Given the description of an element on the screen output the (x, y) to click on. 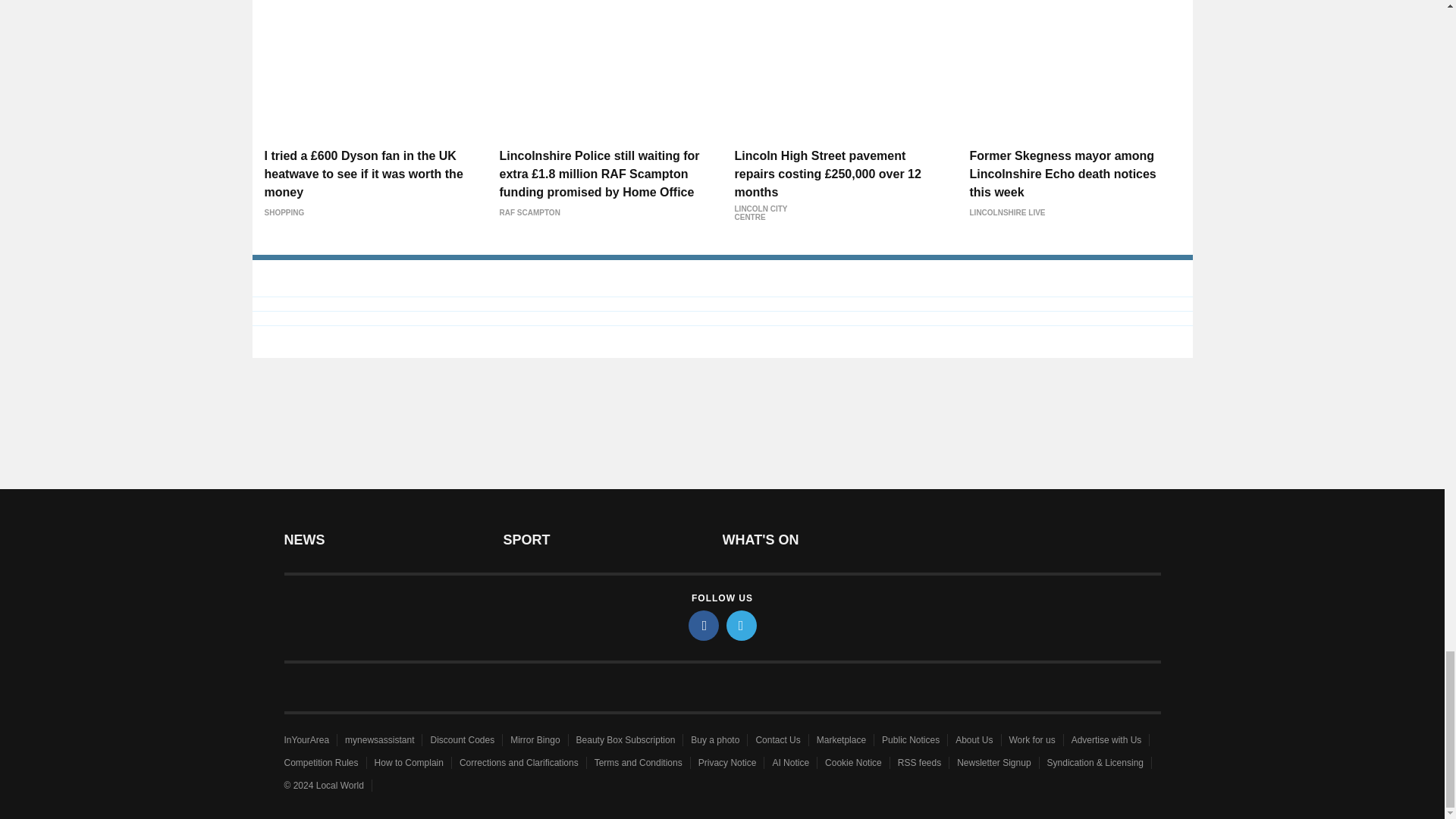
facebook (703, 625)
twitter (741, 625)
